Given the description of an element on the screen output the (x, y) to click on. 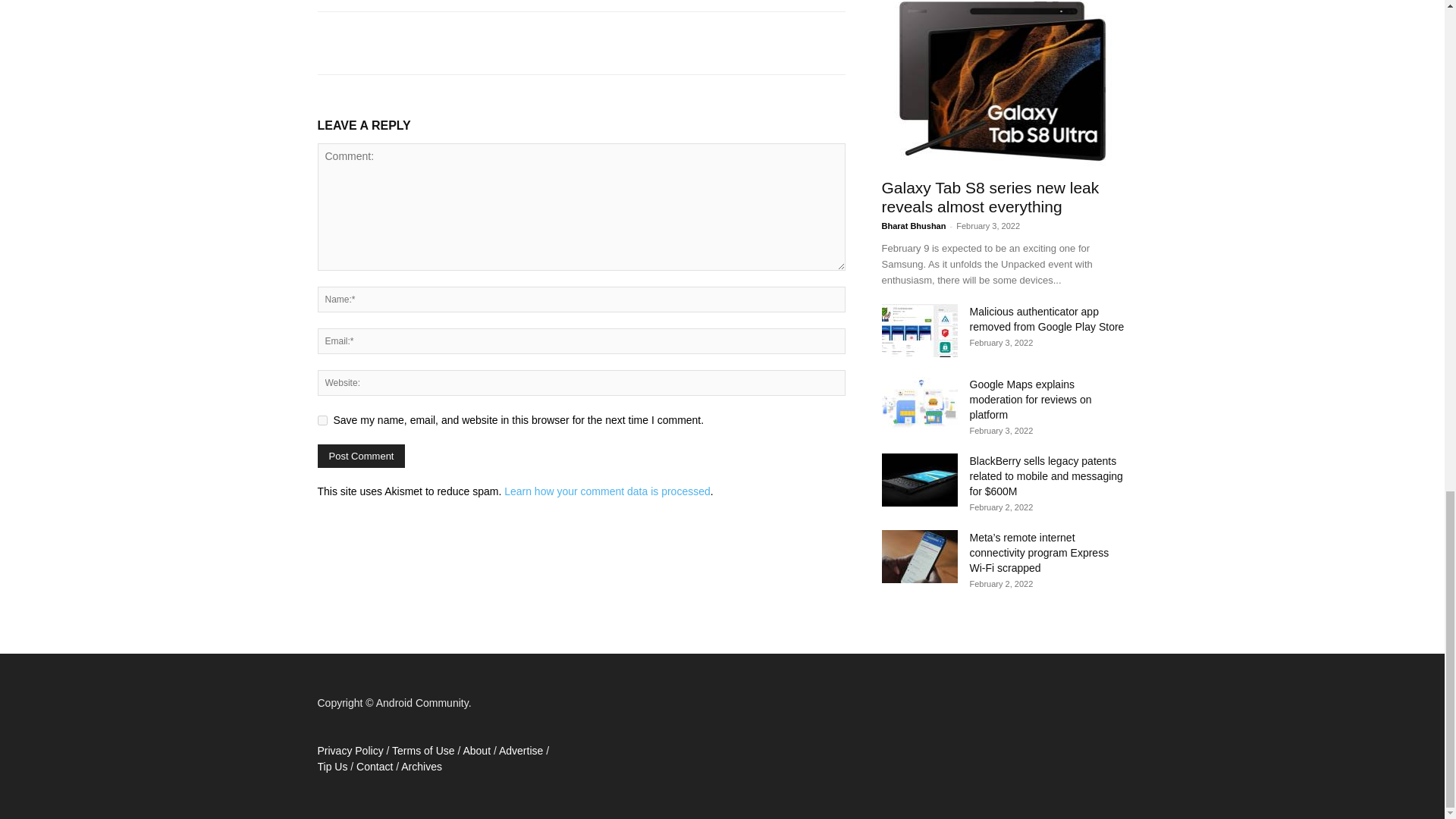
yes (321, 420)
Post Comment (360, 455)
